Given the description of an element on the screen output the (x, y) to click on. 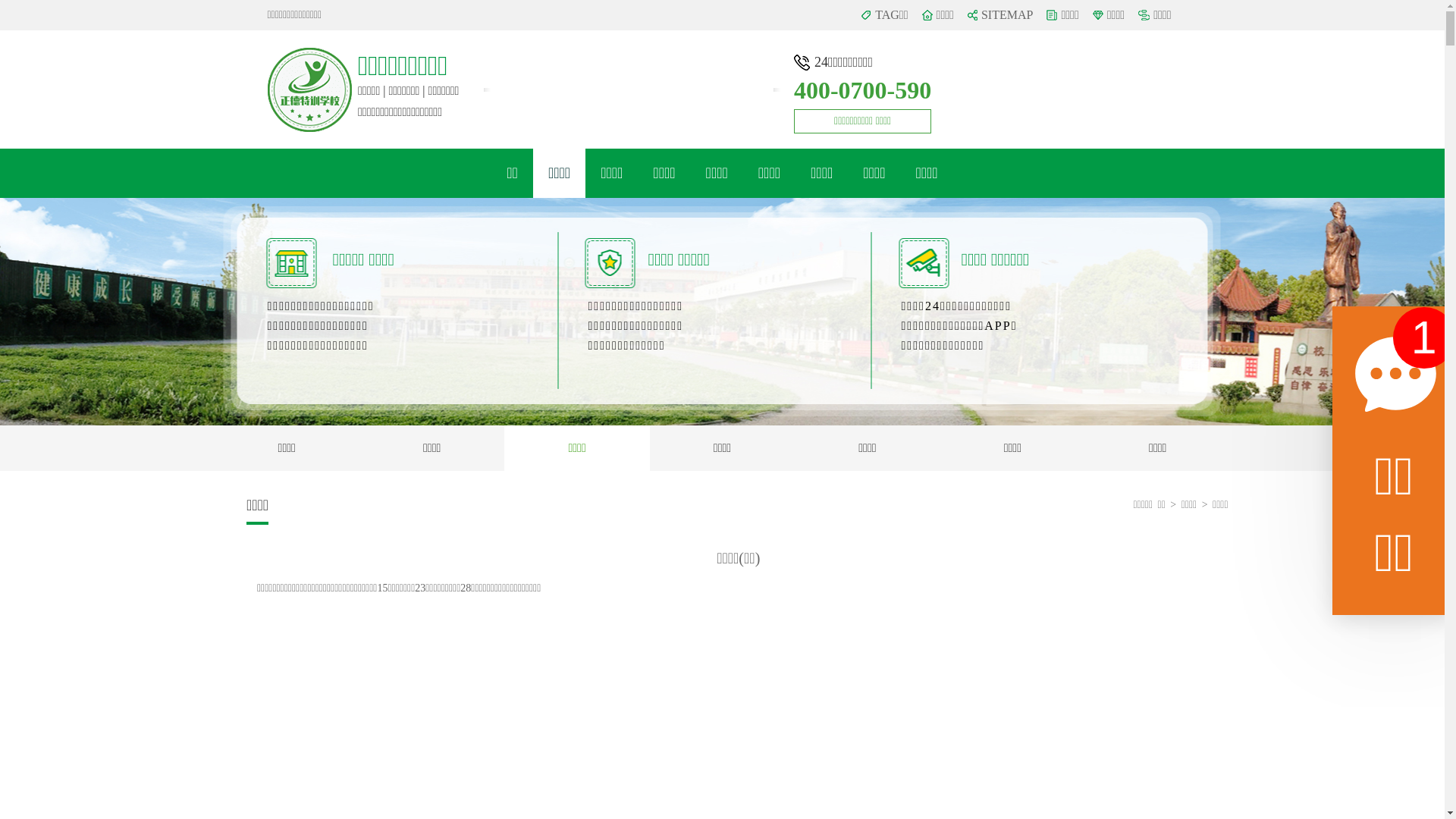
1 Element type: text (1424, 338)
SITEMAP Element type: text (1008, 15)
